Given the description of an element on the screen output the (x, y) to click on. 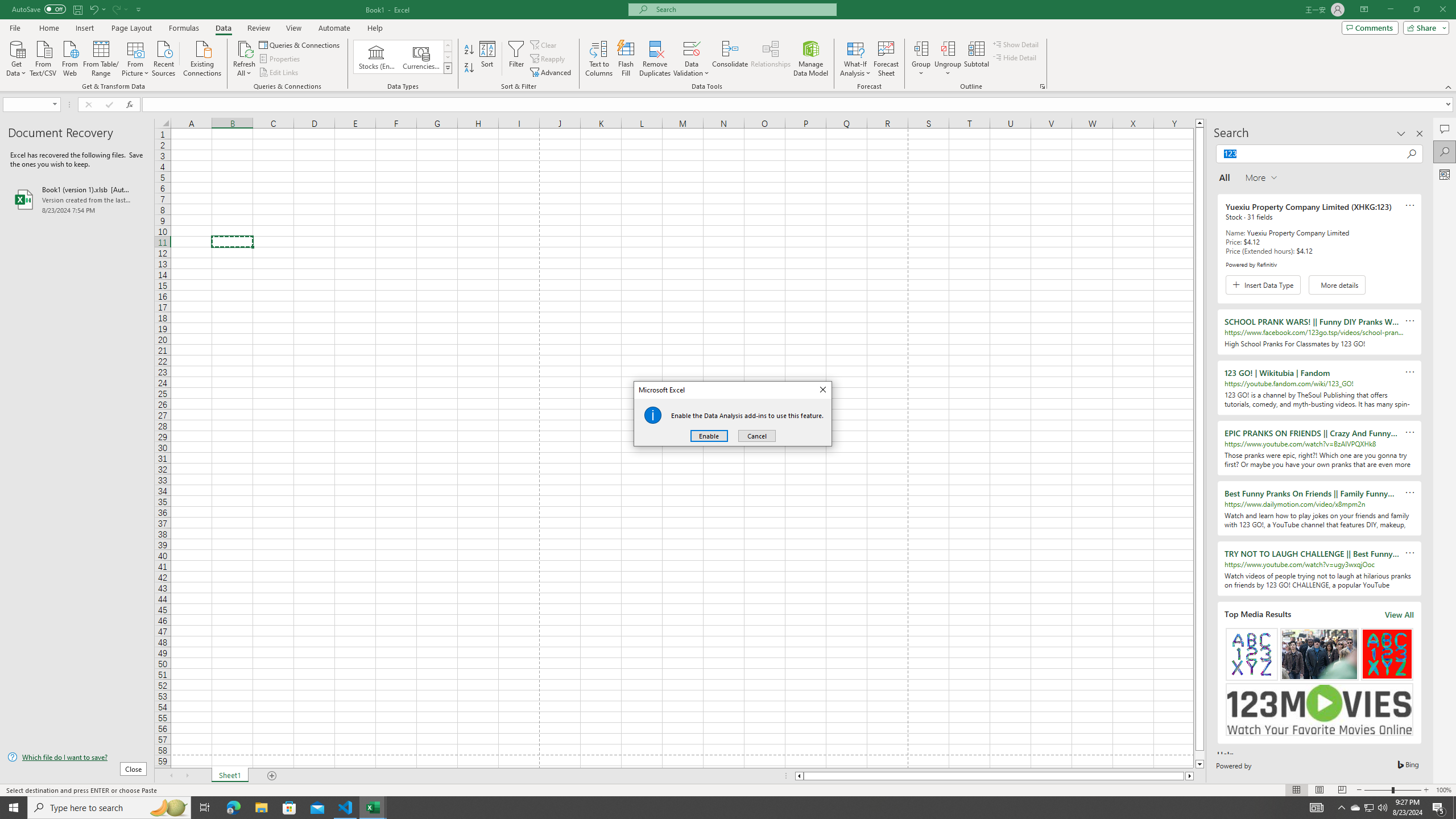
Cancel (757, 435)
Notification Chevron (1341, 807)
Microsoft Store (289, 807)
